Given the description of an element on the screen output the (x, y) to click on. 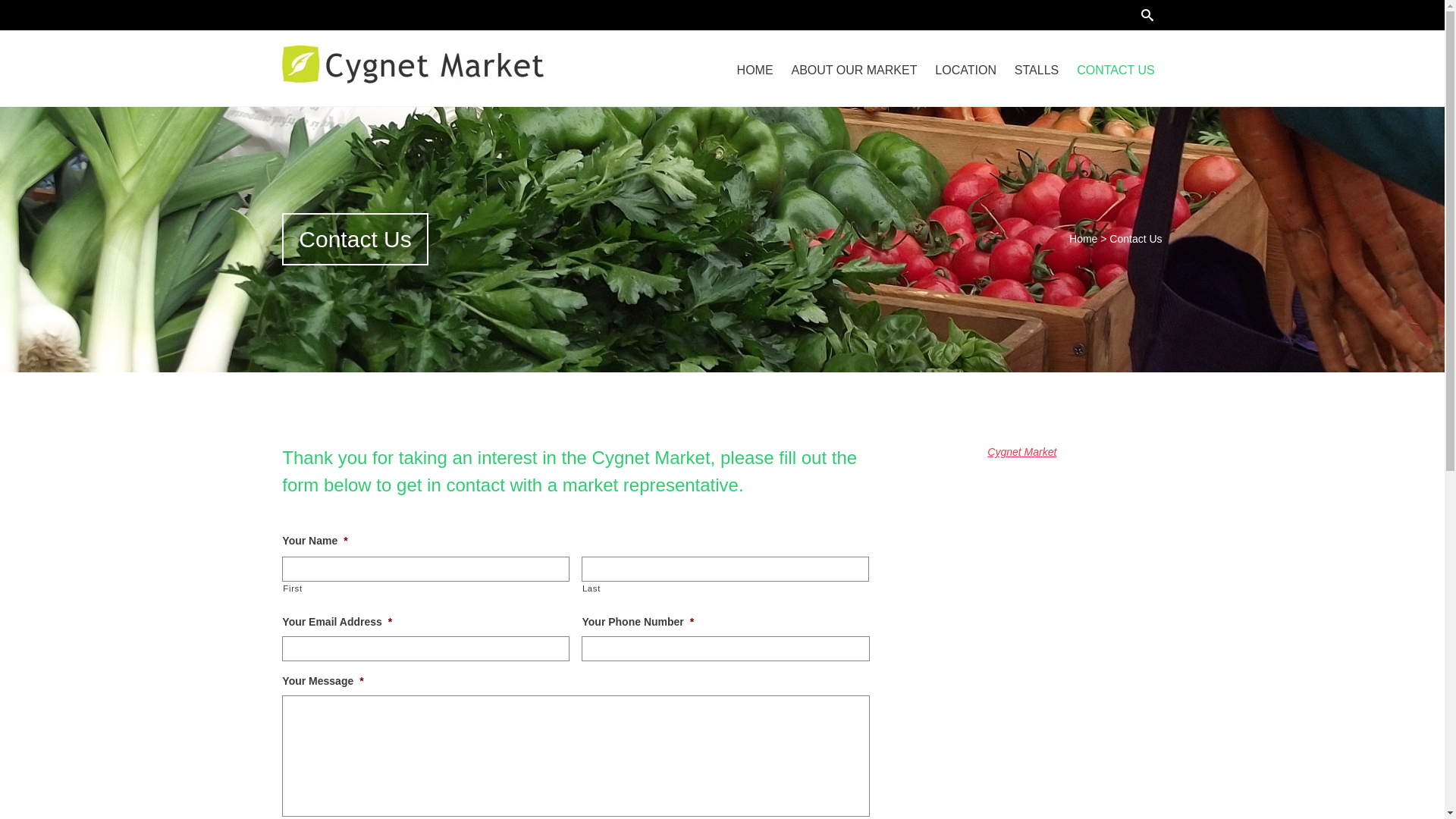
Cygnet Market Element type: text (1021, 451)
LOCATION Element type: text (965, 70)
CONTACT US Element type: text (1115, 70)
The Cygnet Market -  Element type: hover (413, 64)
STALLS Element type: text (1036, 70)
HOME Element type: text (755, 70)
Search Element type: text (20, 10)
ABOUT OUR MARKET Element type: text (854, 70)
Home Element type: text (1083, 238)
